Given the description of an element on the screen output the (x, y) to click on. 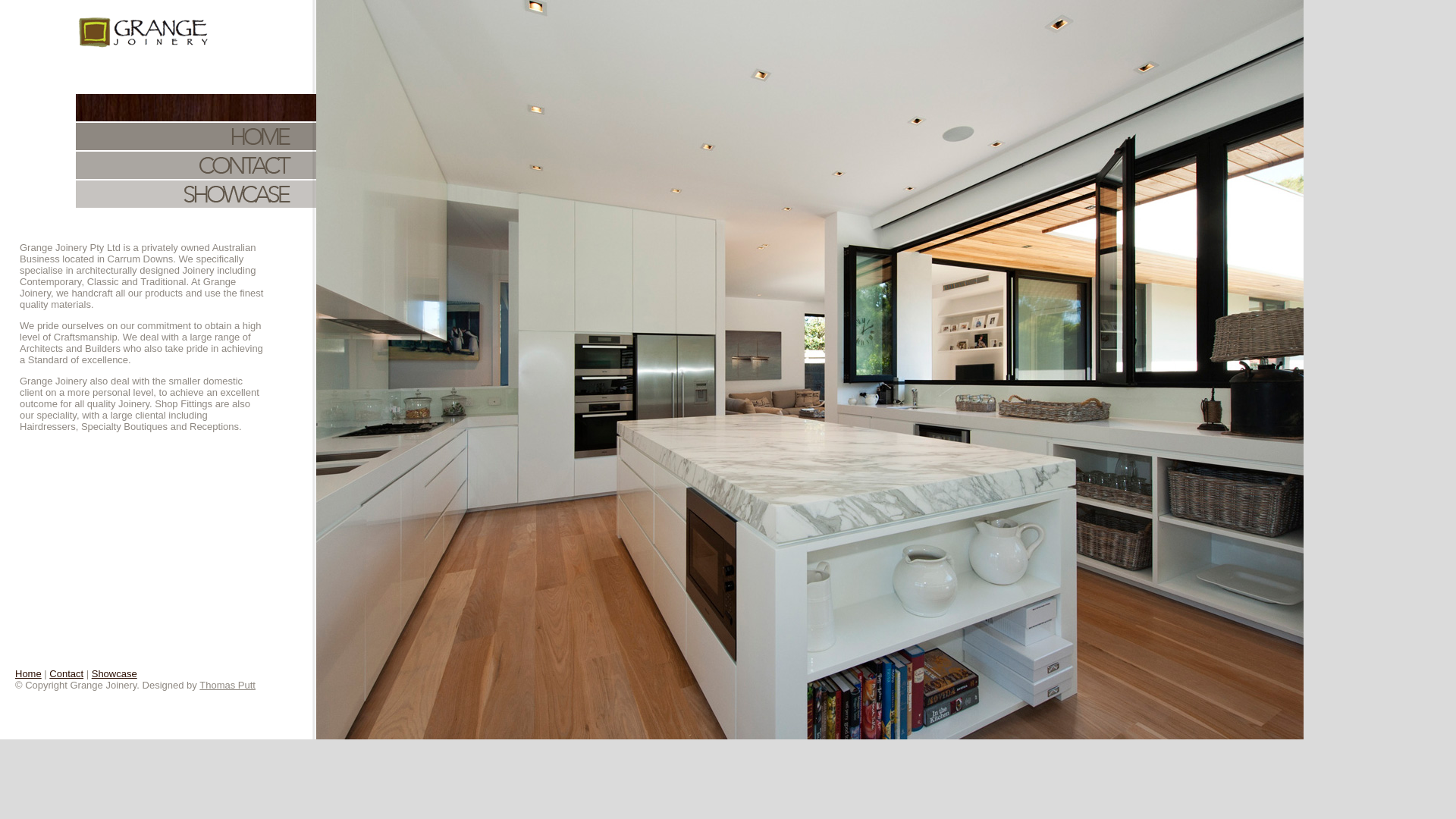
Home Element type: text (195, 136)
Home Element type: text (28, 673)
Showcase Element type: text (114, 673)
Contact Element type: text (195, 164)
Showcase Element type: text (195, 193)
Grange Joinery Element type: hover (143, 33)
Thomas Putt Element type: text (227, 684)
Contact Element type: text (66, 673)
